Given the description of an element on the screen output the (x, y) to click on. 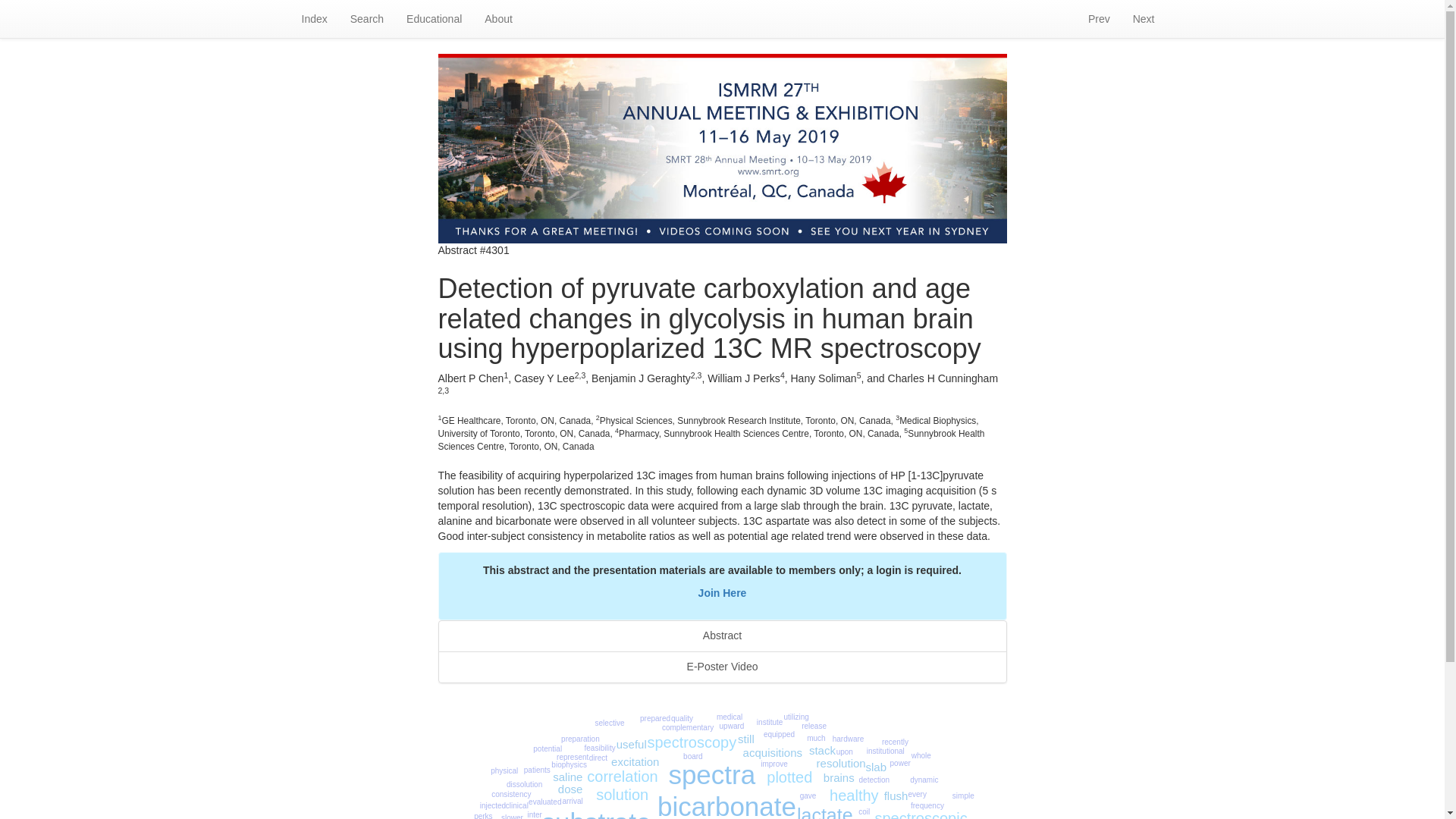
Search (366, 18)
Educational (433, 18)
Join Here (722, 592)
E-Poster Video (722, 667)
Index (313, 18)
About (498, 18)
Prev (1099, 18)
Next (1143, 18)
Abstract (722, 635)
